Given the description of an element on the screen output the (x, y) to click on. 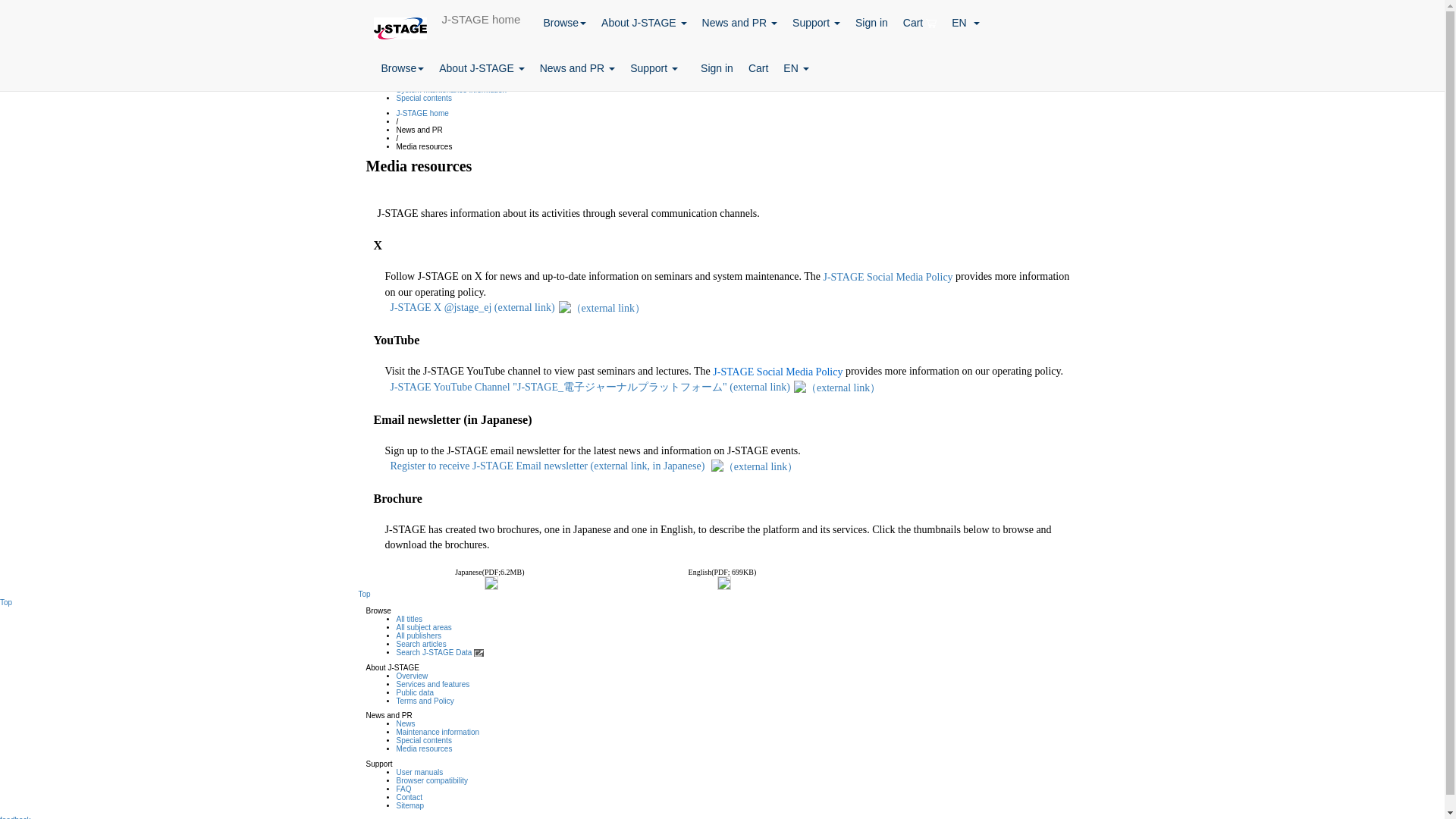
About J-STAGE (644, 22)
News and PR (739, 22)
Browse (564, 22)
J-STAGE home (480, 18)
Cart (919, 22)
EN (965, 22)
Sign in (871, 22)
About J-STAGE (480, 67)
Browse (401, 67)
Support (815, 22)
